Given the description of an element on the screen output the (x, y) to click on. 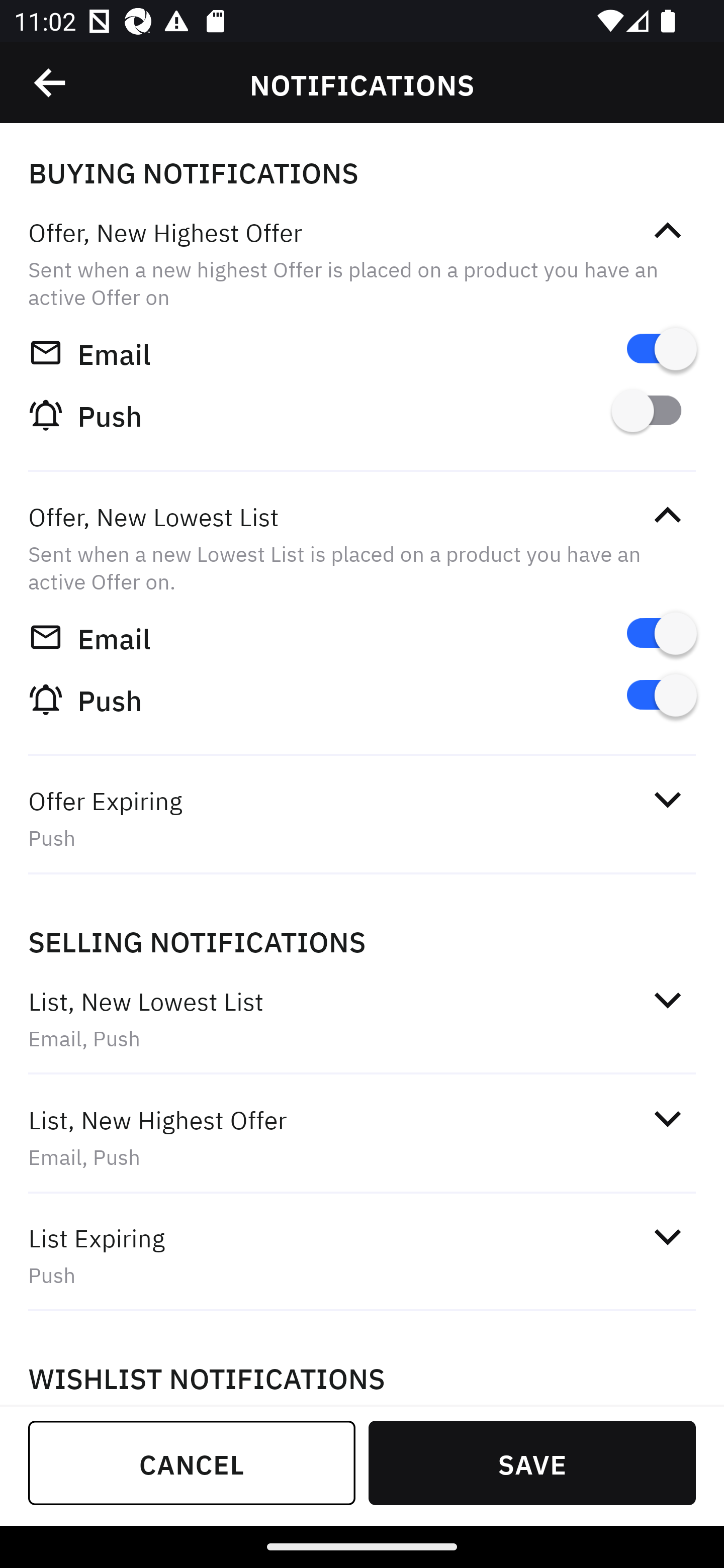
 (50, 83)
 (667, 231)
 (667, 514)
Offer Expiring  Push (361, 818)
 (667, 799)
List, New Lowest List  Email, Push (361, 1018)
 (667, 999)
List, New Highest Offer  Email, Push (361, 1137)
 (667, 1118)
List Expiring  Push (361, 1254)
 (667, 1236)
CANCEL (191, 1462)
SAVE (531, 1462)
